Given the description of an element on the screen output the (x, y) to click on. 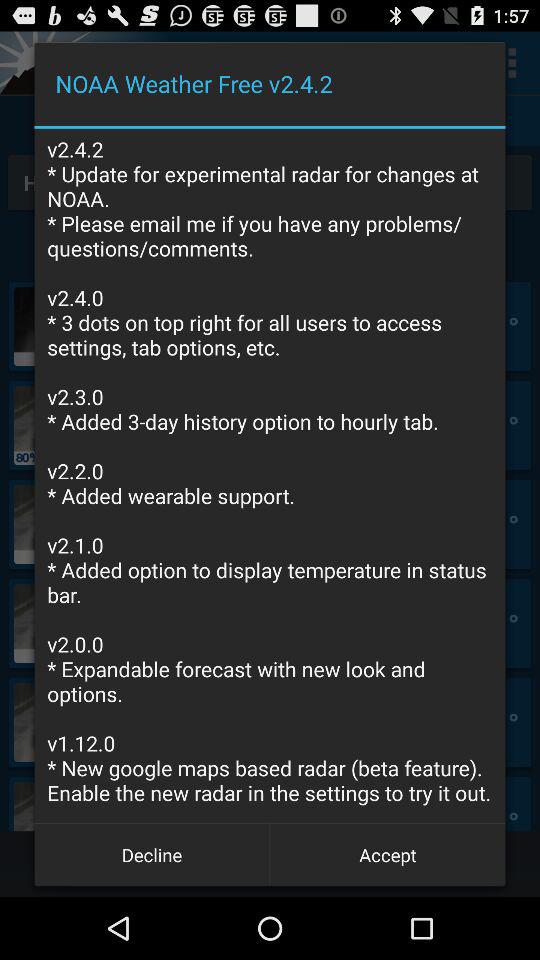
turn on item at the bottom left corner (151, 854)
